Given the description of an element on the screen output the (x, y) to click on. 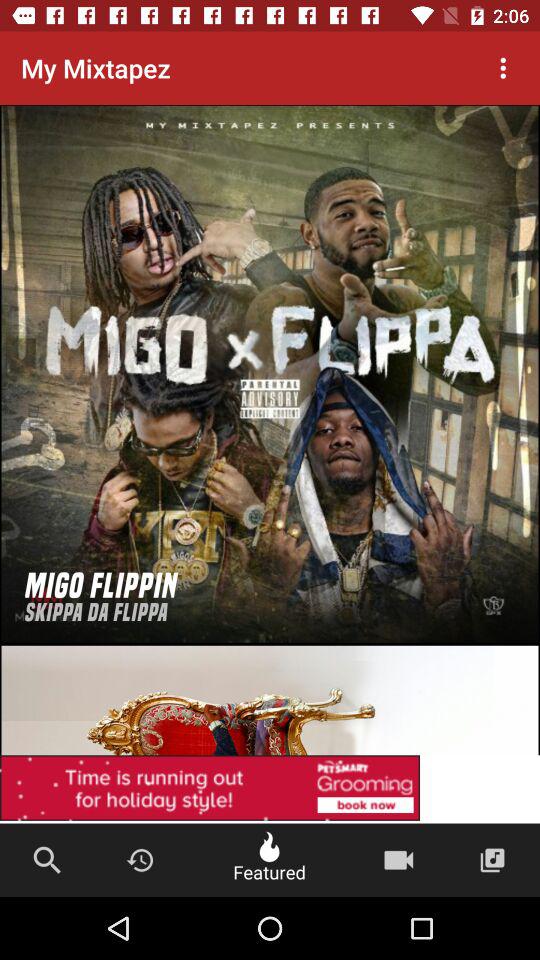
advertisement (269, 645)
